Given the description of an element on the screen output the (x, y) to click on. 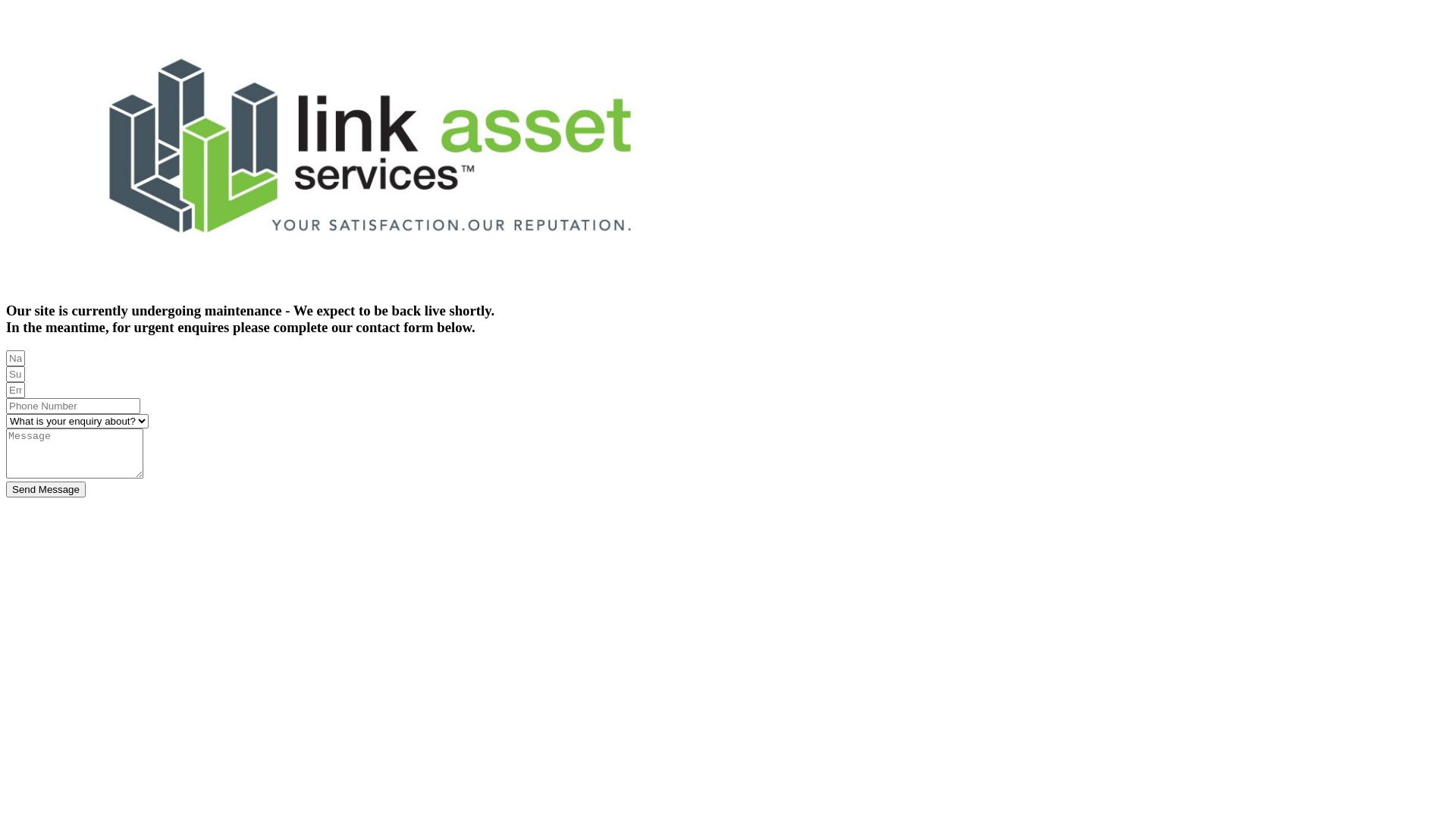
Send Message Element type: text (45, 489)
